Given the description of an element on the screen output the (x, y) to click on. 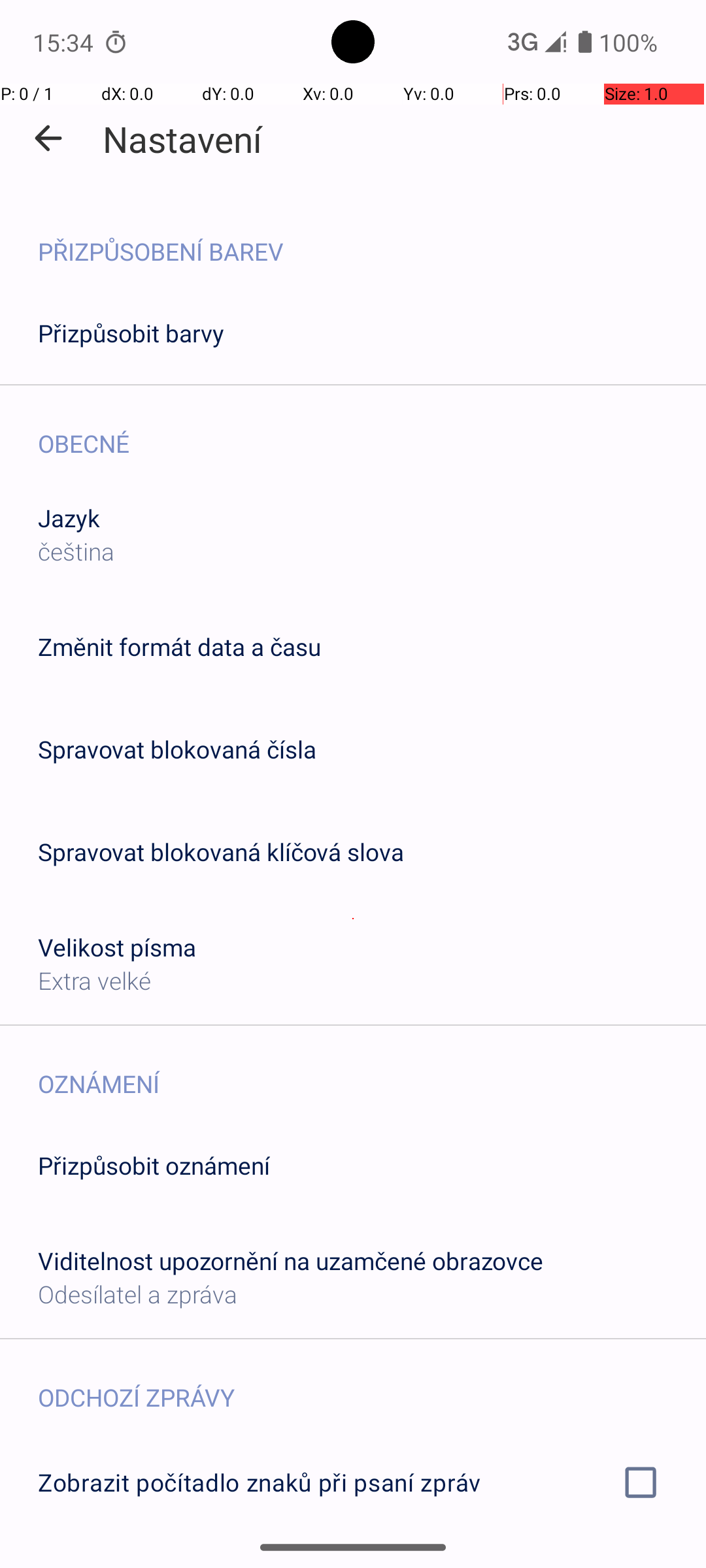
PŘIZPŮSOBENÍ BAREV Element type: android.widget.TextView (371, 237)
OBECNÉ Element type: android.widget.TextView (371, 429)
OZNÁMENÍ Element type: android.widget.TextView (371, 1069)
ODCHOZÍ ZPRÁVY Element type: android.widget.TextView (371, 1383)
Přizpůsobit barvy Element type: android.widget.TextView (130, 332)
Jazyk Element type: android.widget.TextView (68, 517)
čeština Element type: android.widget.TextView (75, 550)
Změnit formát data a času Element type: android.widget.TextView (178, 646)
Spravovat blokovaná čísla Element type: android.widget.TextView (176, 748)
Spravovat blokovaná klíčová slova Element type: android.widget.TextView (220, 851)
Velikost písma Element type: android.widget.TextView (116, 946)
Extra velké Element type: android.widget.TextView (94, 979)
Přizpůsobit oznámení Element type: android.widget.TextView (153, 1164)
Viditelnost upozornění na uzamčené obrazovce Element type: android.widget.TextView (290, 1260)
Odesílatel a zpráva Element type: android.widget.TextView (137, 1293)
Zobrazit počítadlo znaků při psaní zpráv Element type: android.widget.CheckBox (352, 1482)
Odstranit diakritiku při odesílání zprávy Element type: android.widget.CheckBox (352, 1559)
